Given the description of an element on the screen output the (x, y) to click on. 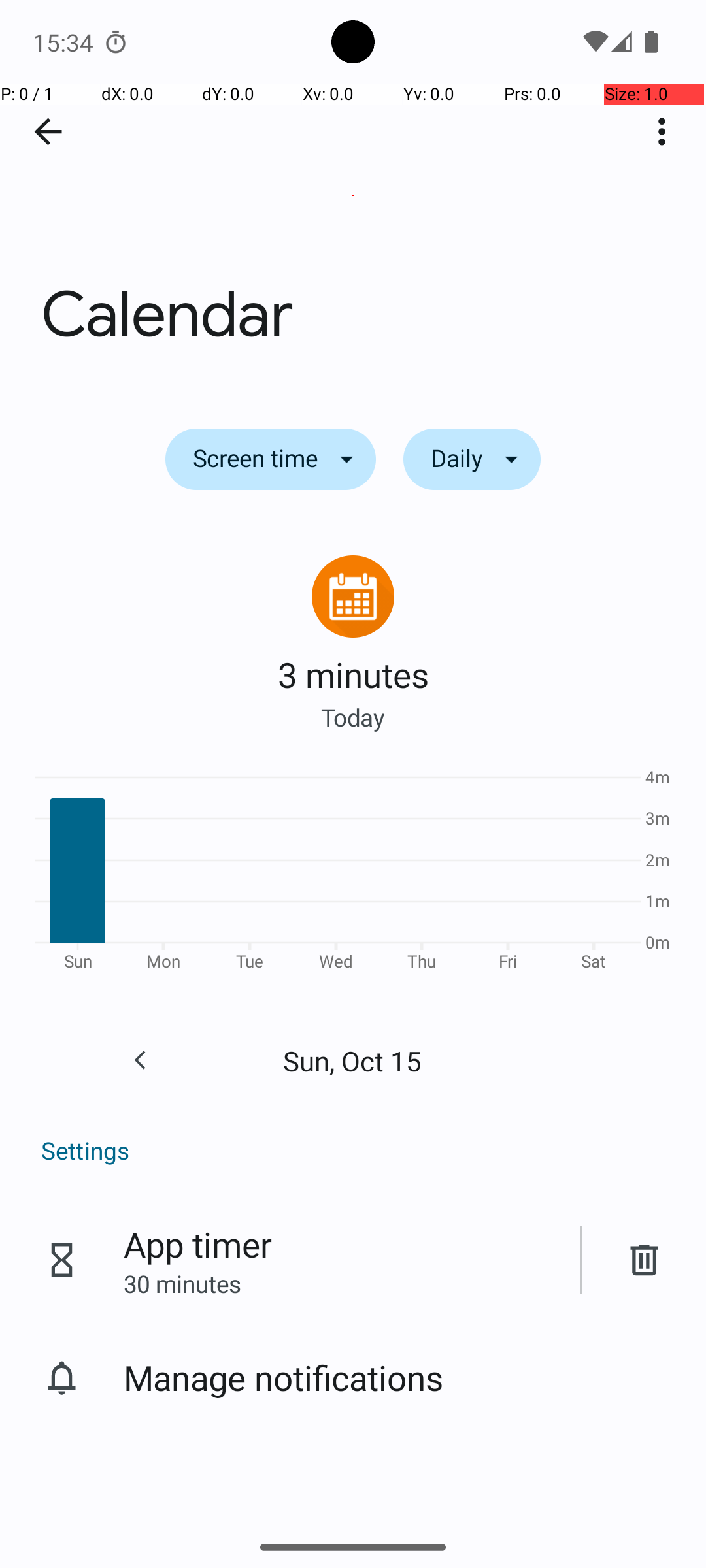
3 minutes Element type: android.widget.TextView (353, 674)
Bar Chart. Showing App usage data with 7 data points. Element type: android.view.ViewGroup (353, 873)
30 minutes Element type: android.widget.TextView (182, 1283)
Delete timer Element type: android.widget.ImageView (644, 1259)
